Given the description of an element on the screen output the (x, y) to click on. 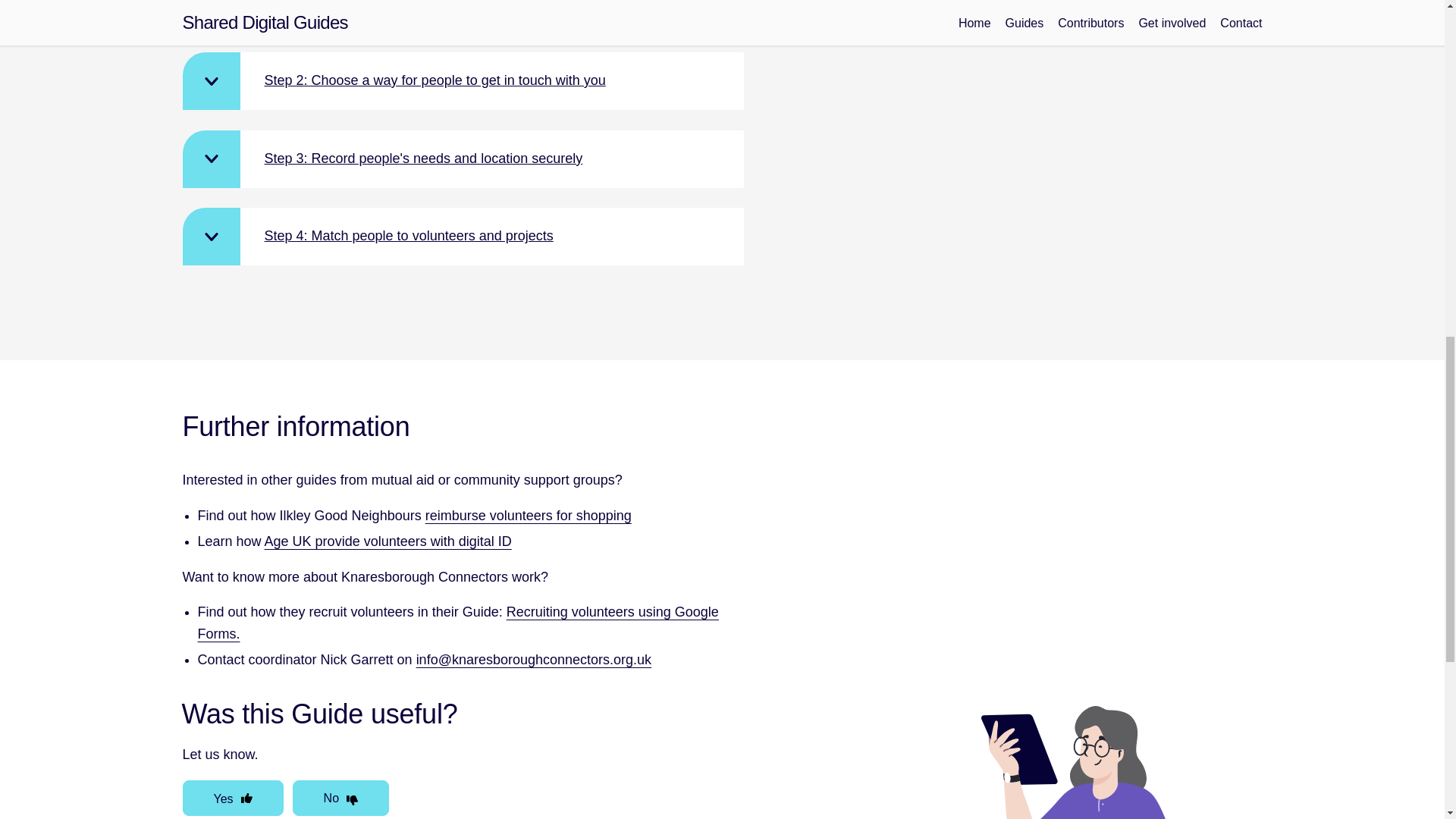
Yes (232, 797)
reimburse volunteers for shopping (528, 515)
Recruiting volunteers using Google Forms. (456, 622)
Step 3: Record people's needs and location securely (462, 159)
Step 4: Match people to volunteers and projects (462, 236)
No (340, 797)
Age UK provide volunteers with digital ID (388, 540)
Step 1: Decide to use a strengths based approach (462, 15)
Step 2: Choose a way for people to get in touch with you (462, 80)
